Given the description of an element on the screen output the (x, y) to click on. 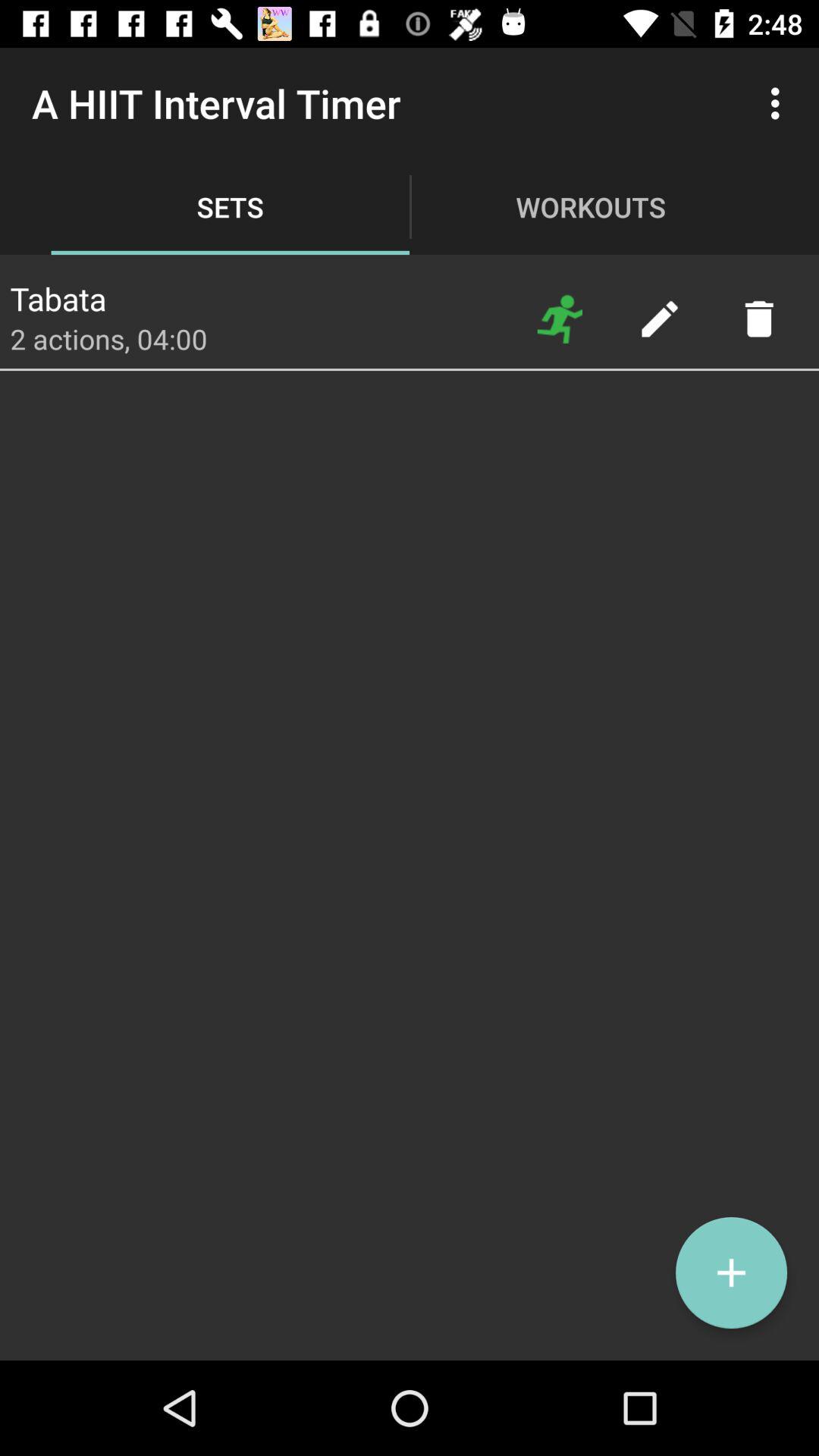
turn off item below tabata (108, 338)
